Given the description of an element on the screen output the (x, y) to click on. 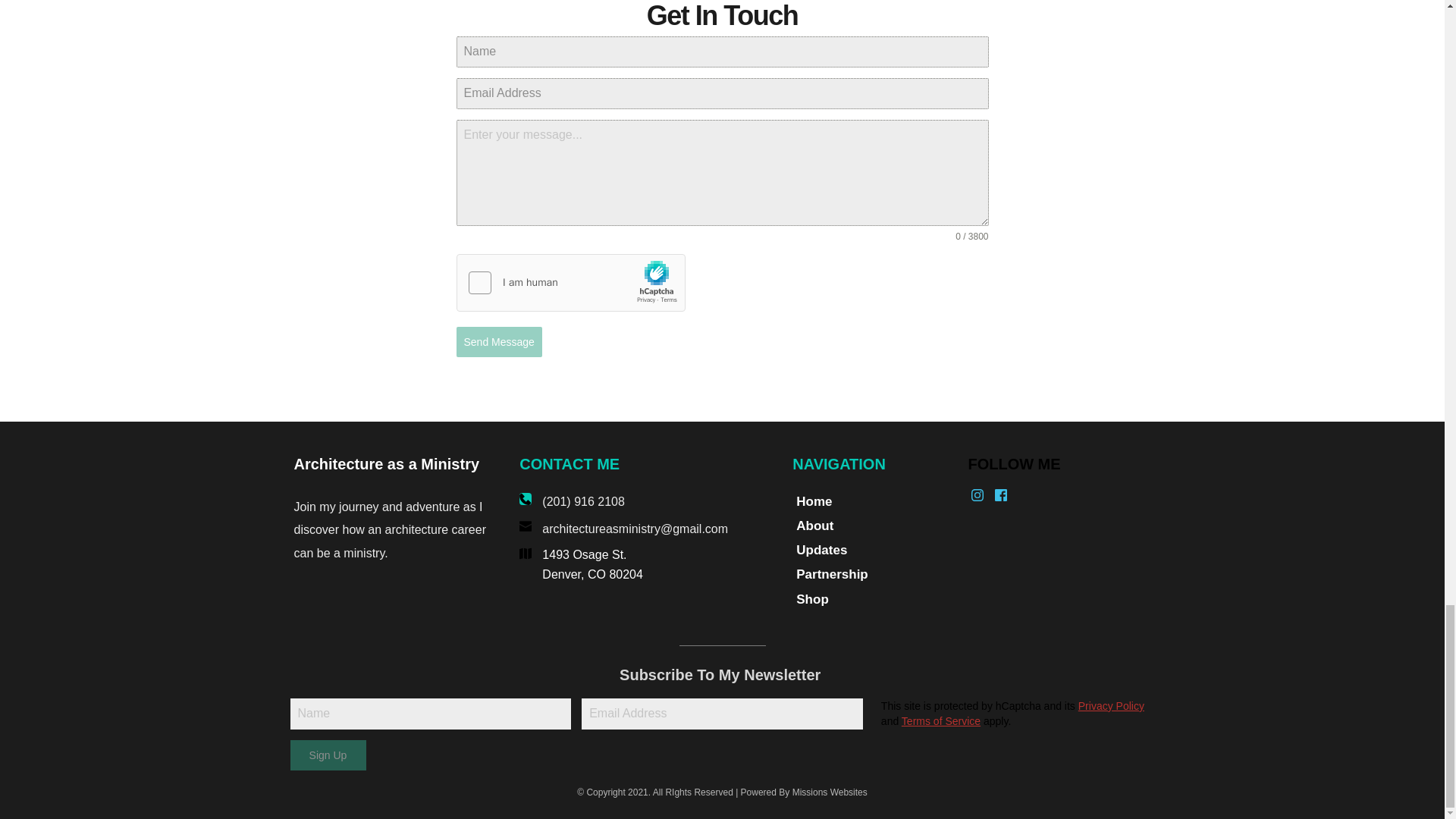
Shop (872, 598)
Updates (872, 549)
Send Message (499, 341)
Terms of Service (940, 720)
Home (872, 501)
Privacy Policy (1111, 705)
Missions Websites (829, 792)
About (872, 525)
Partnership (872, 574)
Widget containing checkbox for hCaptcha security challenge (571, 282)
Sign Up (327, 755)
